Given the description of an element on the screen output the (x, y) to click on. 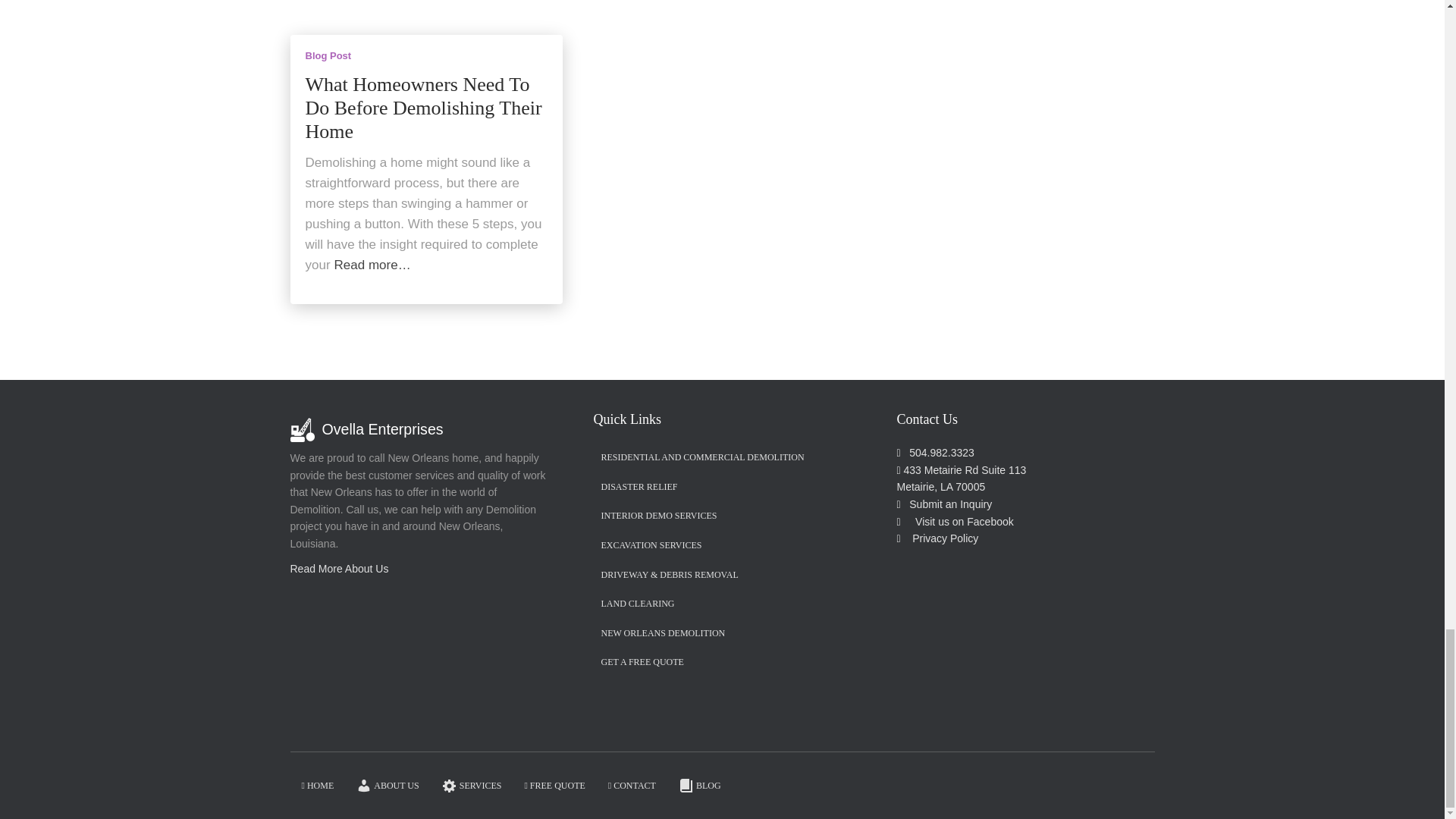
View all posts in Blog Post (327, 55)
Blog Post (327, 55)
Read More About Us (338, 568)
What Homeowners Need To Do Before Demolishing Their Home (422, 108)
